Given the description of an element on the screen output the (x, y) to click on. 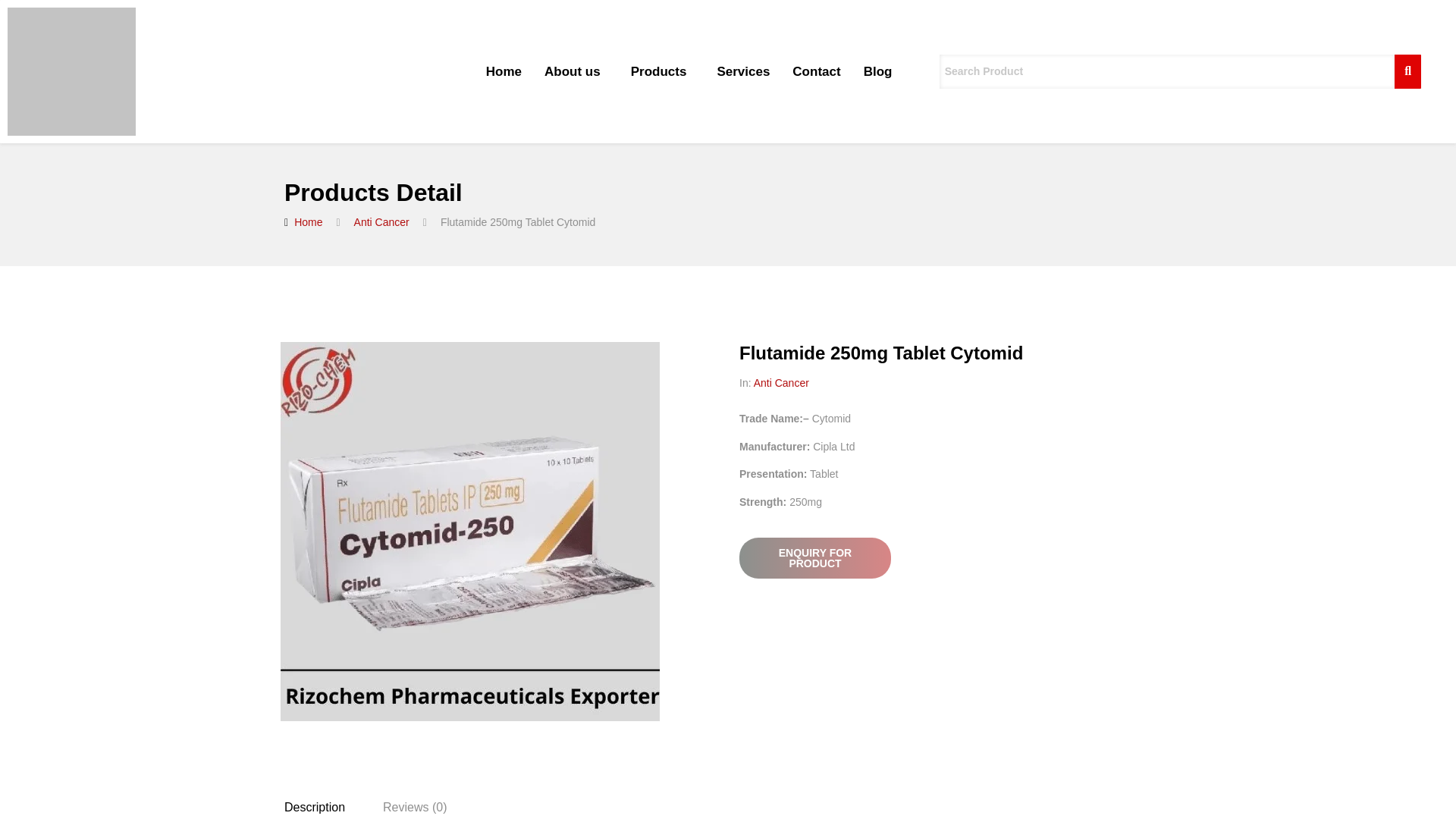
Search (1166, 71)
Contact (815, 71)
Home (503, 71)
Blog (877, 71)
About us (576, 71)
Products (663, 71)
Services (742, 71)
Enquiry For Product (815, 557)
